Given the description of an element on the screen output the (x, y) to click on. 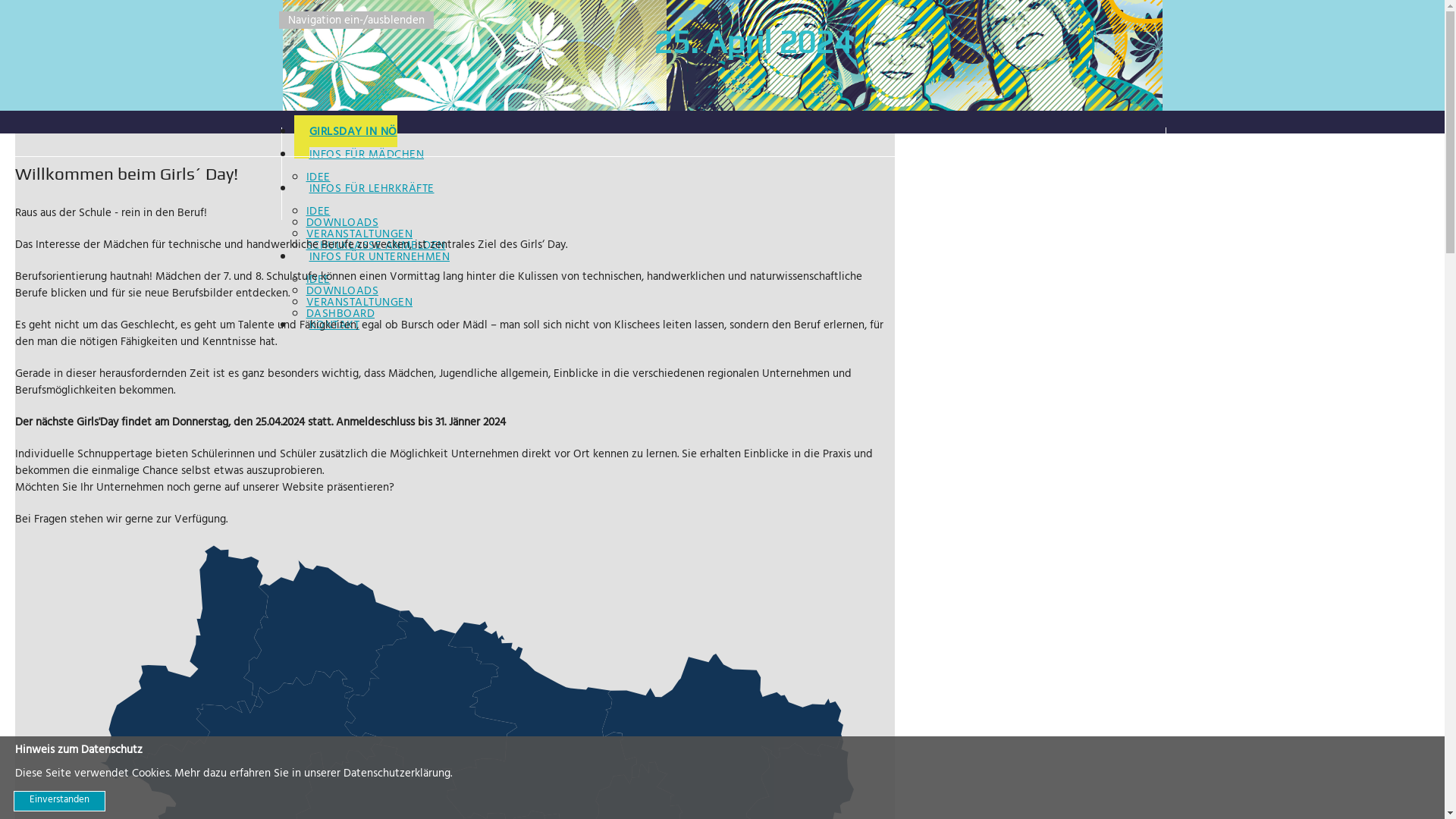
VERANSTALTUNGEN Element type: text (359, 303)
IDEE Element type: text (318, 280)
IDEE Element type: text (318, 178)
DOWNLOADS Element type: text (342, 224)
IDEE Element type: text (318, 212)
DASHBOARD Element type: text (340, 315)
Navigation ein-/ausblenden Element type: text (356, 19)
Einverstanden Element type: text (59, 800)
VERANSTALTUNGEN Element type: text (359, 235)
DOWNLOADS Element type: text (342, 292)
KONTAKT Element type: text (729, 329)
SCHULKLASSE ANMELDEN Element type: text (375, 246)
